Given the description of an element on the screen output the (x, y) to click on. 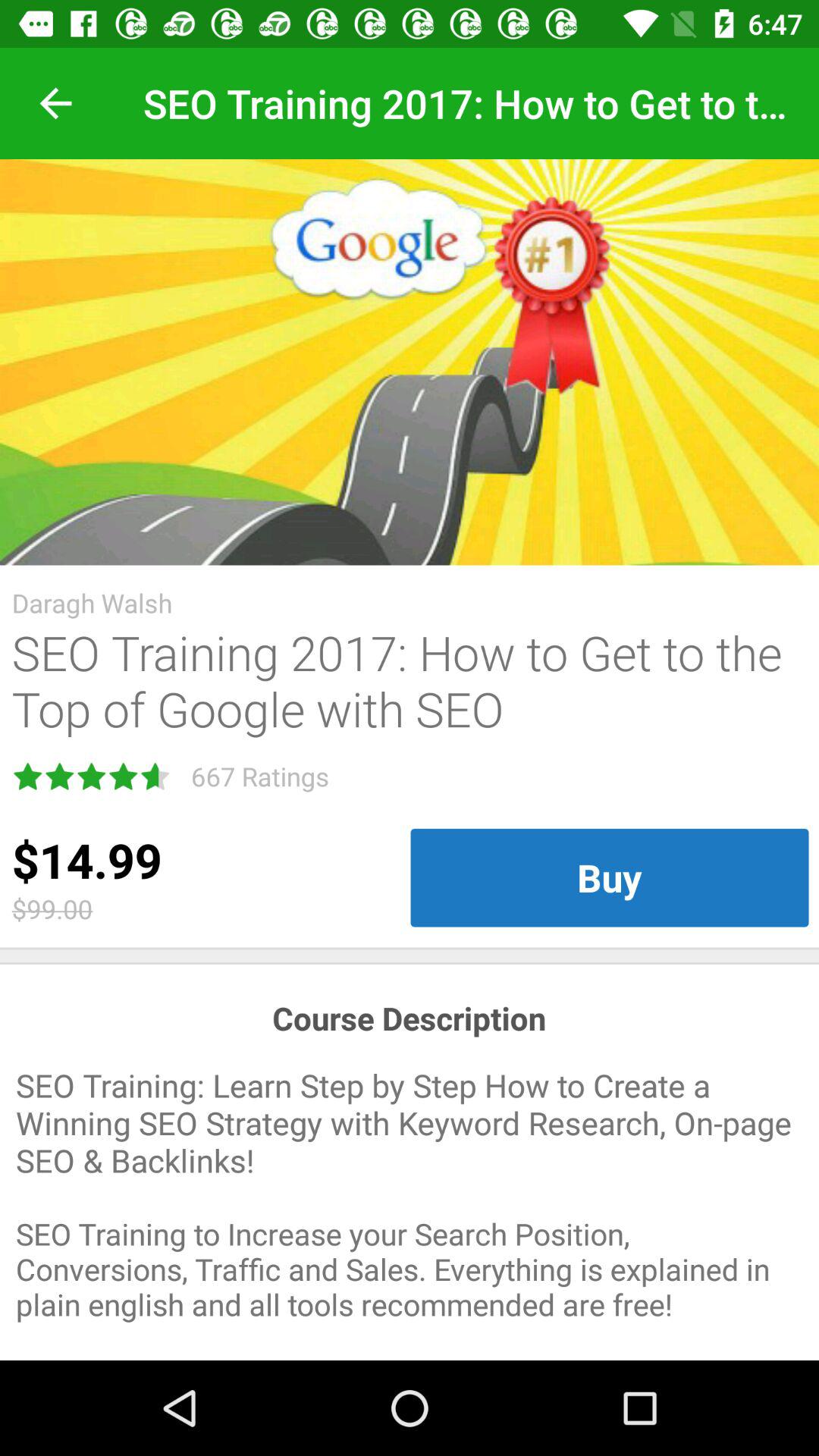
turn off icon on the right (609, 877)
